Given the description of an element on the screen output the (x, y) to click on. 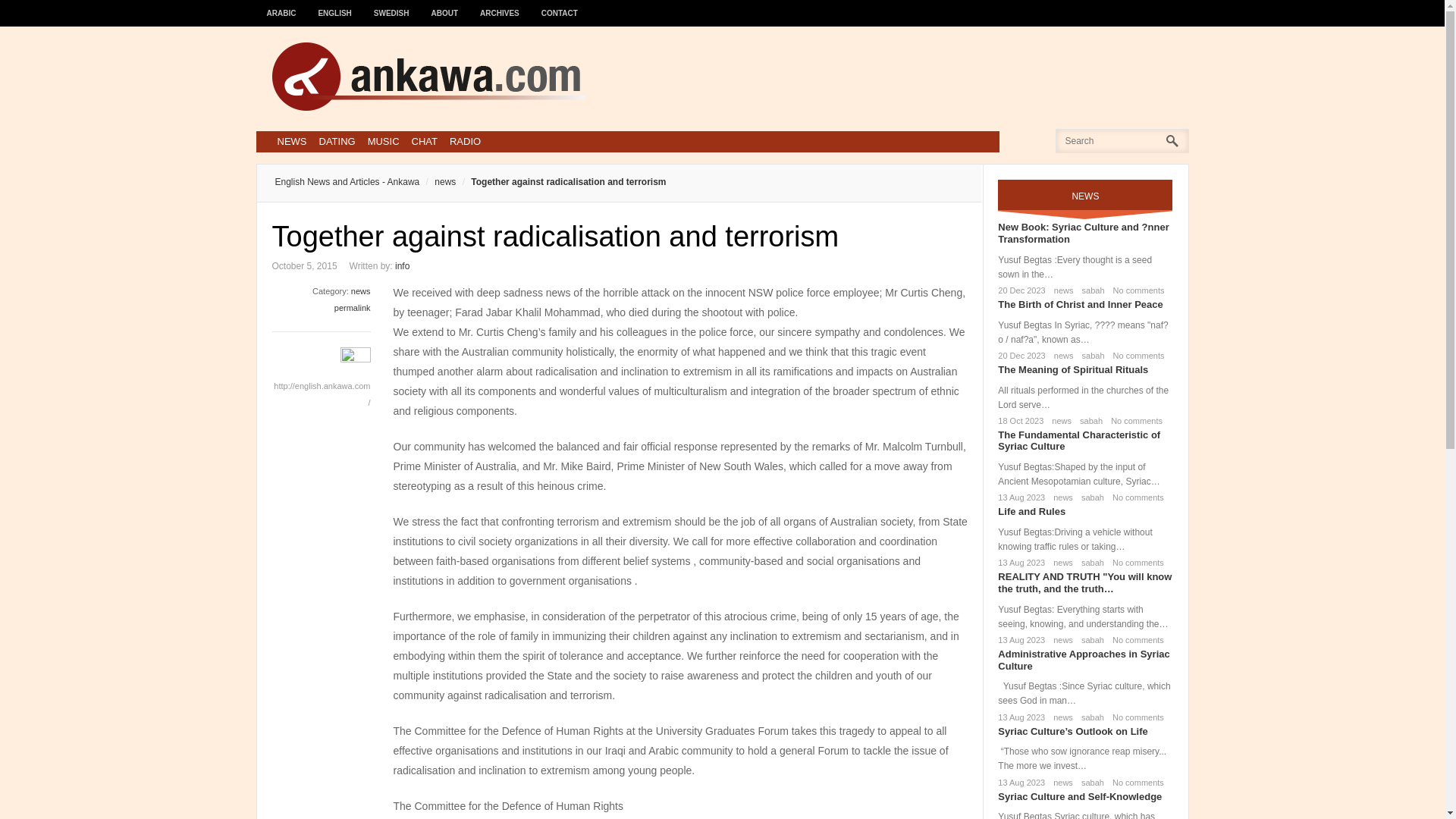
news (1058, 420)
ARABIC (281, 5)
sabah (1090, 289)
No comments (1135, 289)
The Meaning of Spiritual Rituals (1072, 369)
No comments (1135, 355)
ARCHIVES (499, 5)
New Book: Syriac Culture and ?nner Transformation (1083, 232)
ABOUT (445, 5)
Life and Rules (1031, 511)
Administrative Approaches in Syriac Culture (1083, 659)
SWEDISH (391, 5)
NEWS (291, 141)
No comments (1134, 497)
